Given the description of an element on the screen output the (x, y) to click on. 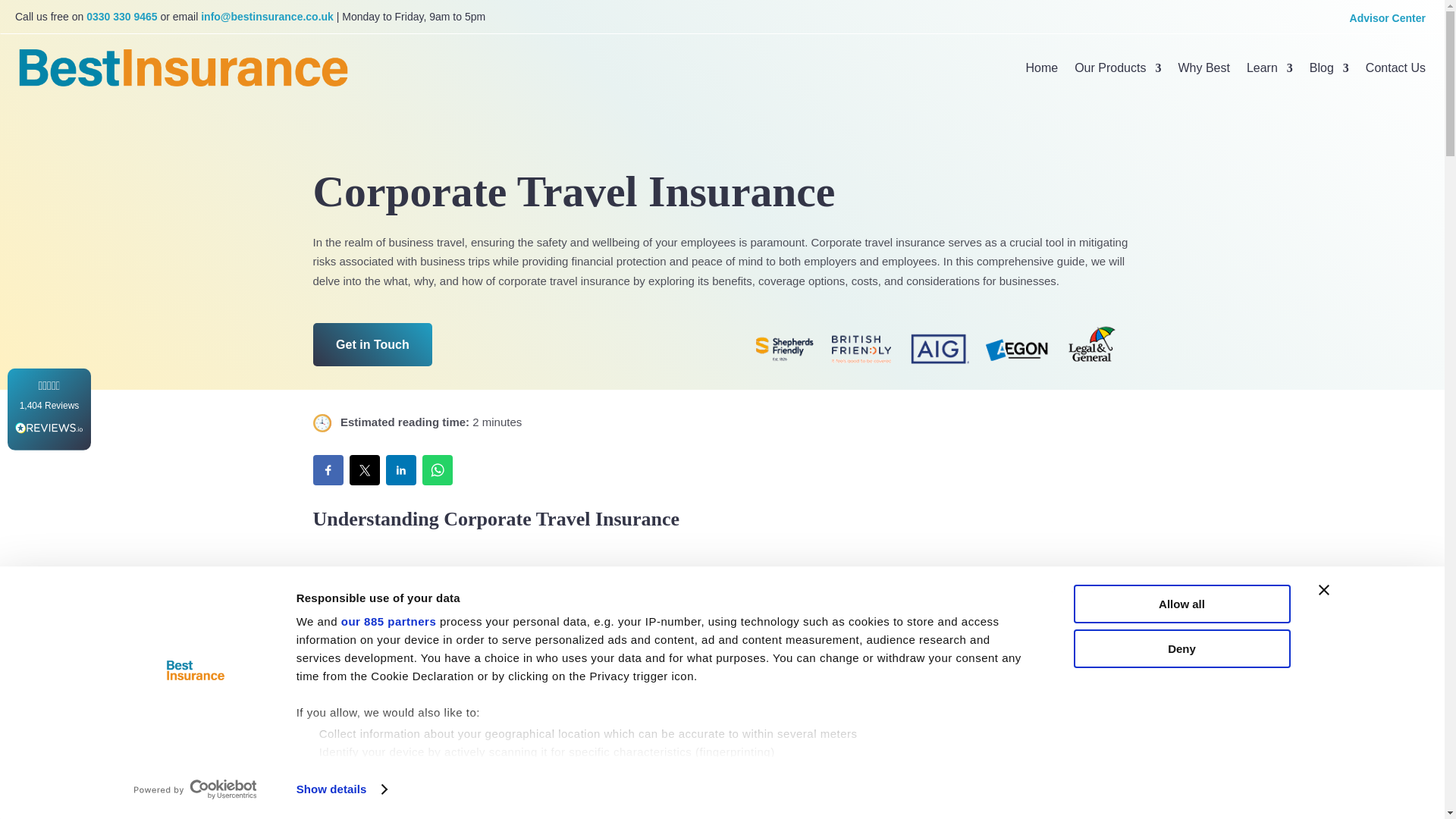
our 885 partners (388, 621)
details section (825, 772)
Show details (341, 789)
